Given the description of an element on the screen output the (x, y) to click on. 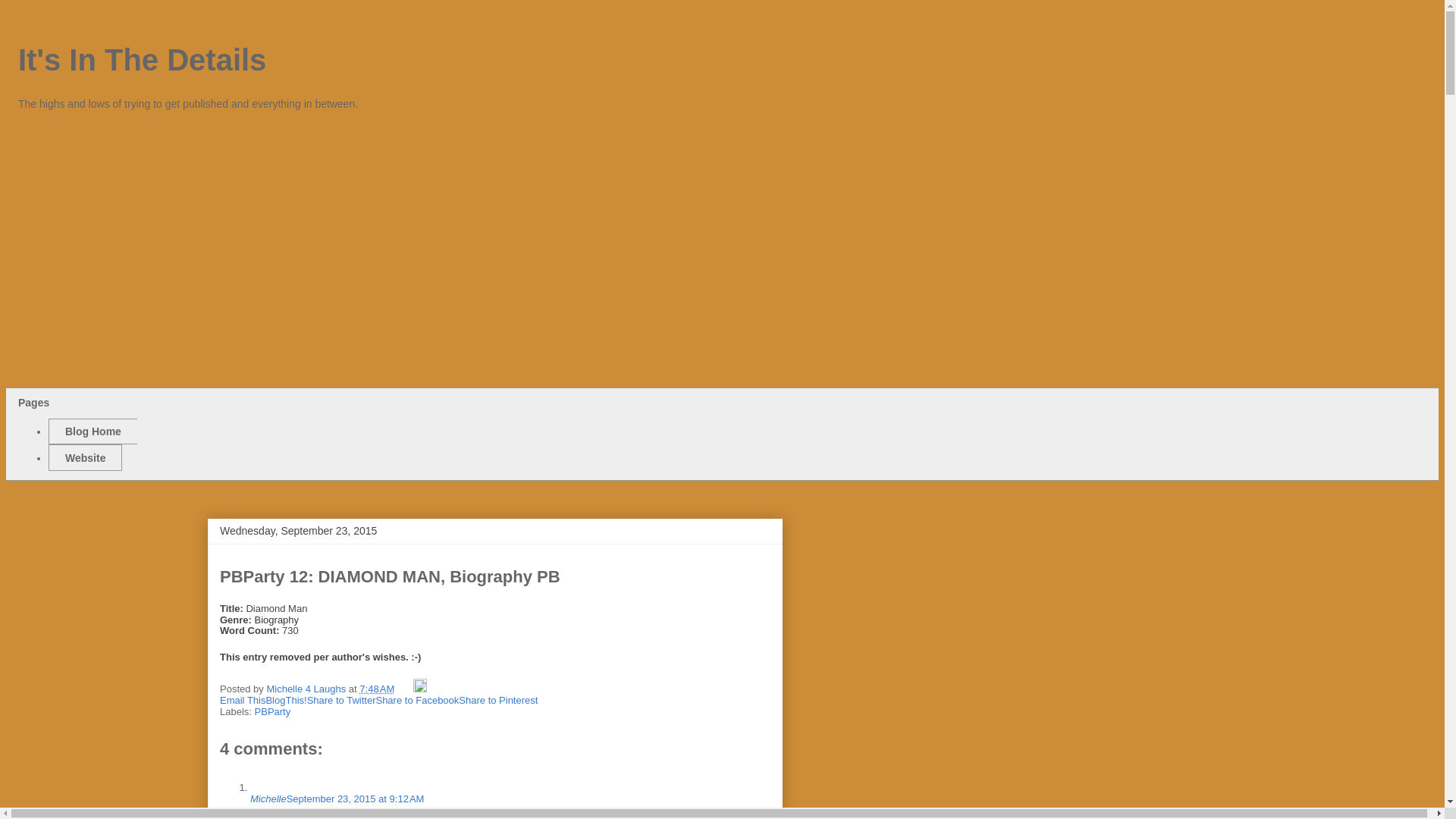
Share to Pinterest (497, 699)
It's In The Details (141, 59)
Share to Twitter (341, 699)
Michelle 4 Laughs (306, 688)
Blog Home (92, 431)
PBParty (272, 711)
permanent link (376, 688)
BlogThis! (284, 699)
author profile (306, 688)
Michelle (268, 798)
Share to Facebook (416, 699)
Email This (241, 699)
Edit Post (419, 688)
Website (85, 457)
